Given the description of an element on the screen output the (x, y) to click on. 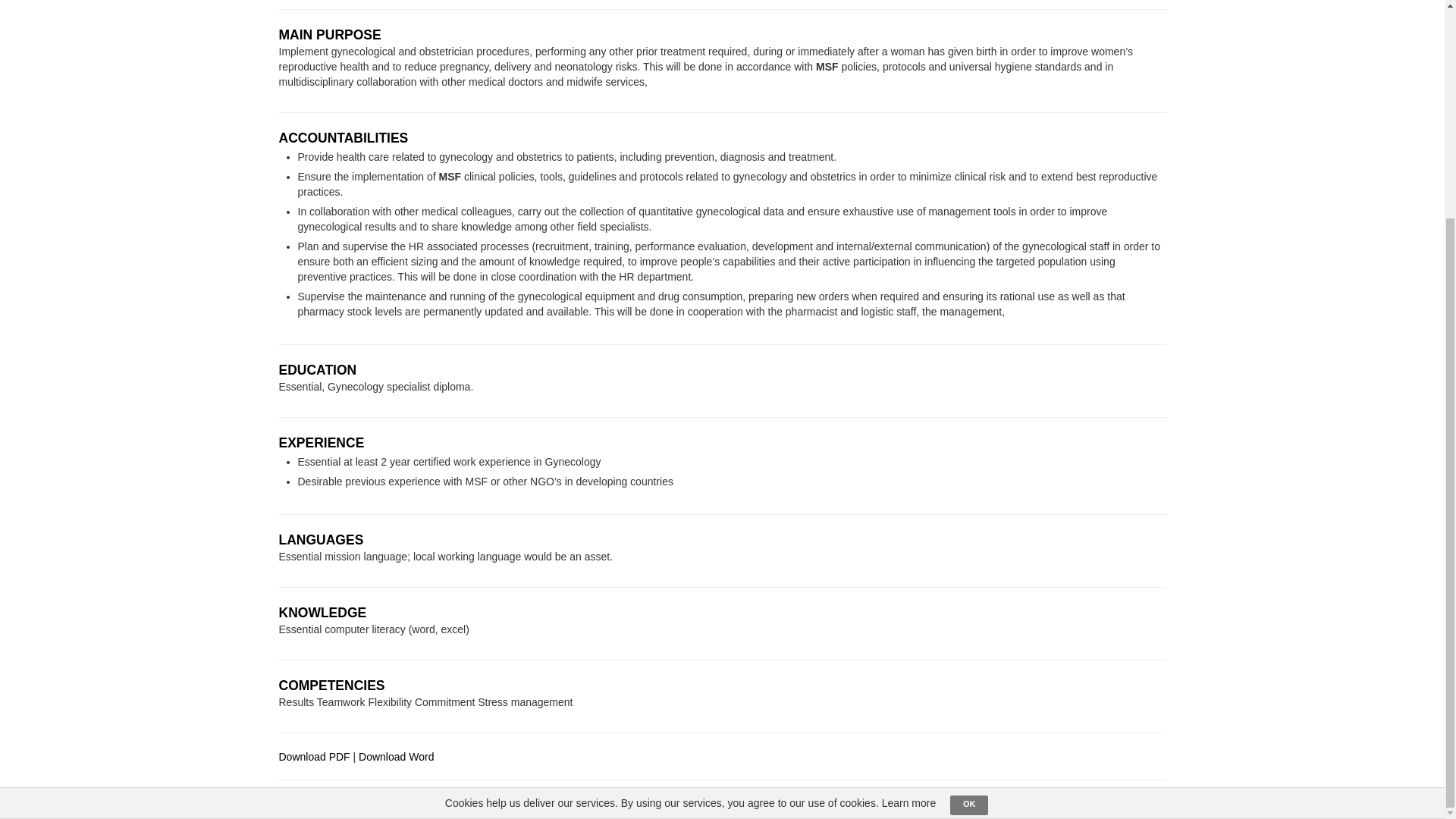
Learn more (909, 514)
OK (969, 516)
Download Word (395, 756)
Download PDF (314, 756)
